Given the description of an element on the screen output the (x, y) to click on. 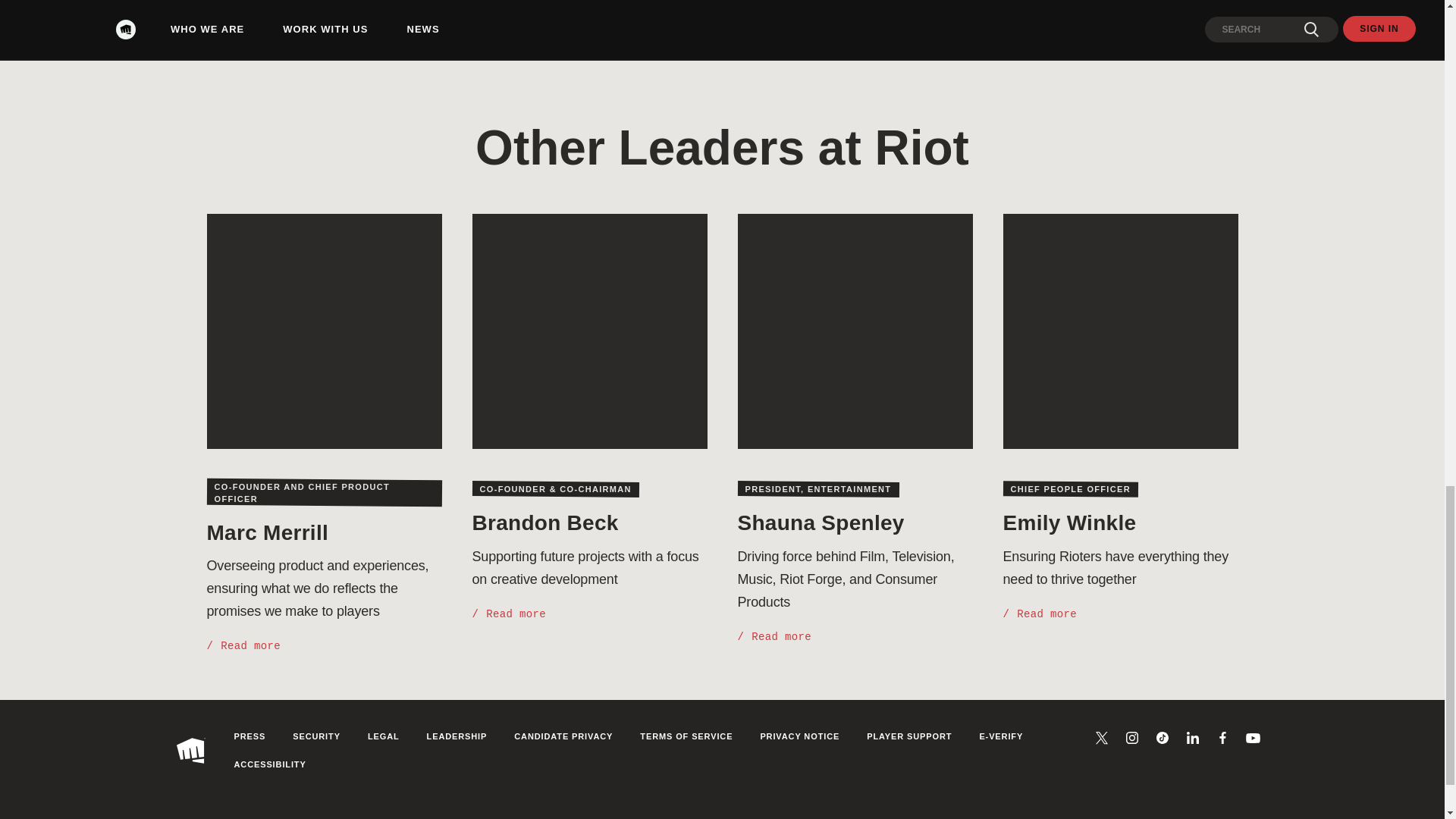
Read more (243, 646)
PRESS (249, 736)
Read more (773, 636)
Read more (1040, 614)
Riot Games (197, 750)
Read more (508, 614)
